Given the description of an element on the screen output the (x, y) to click on. 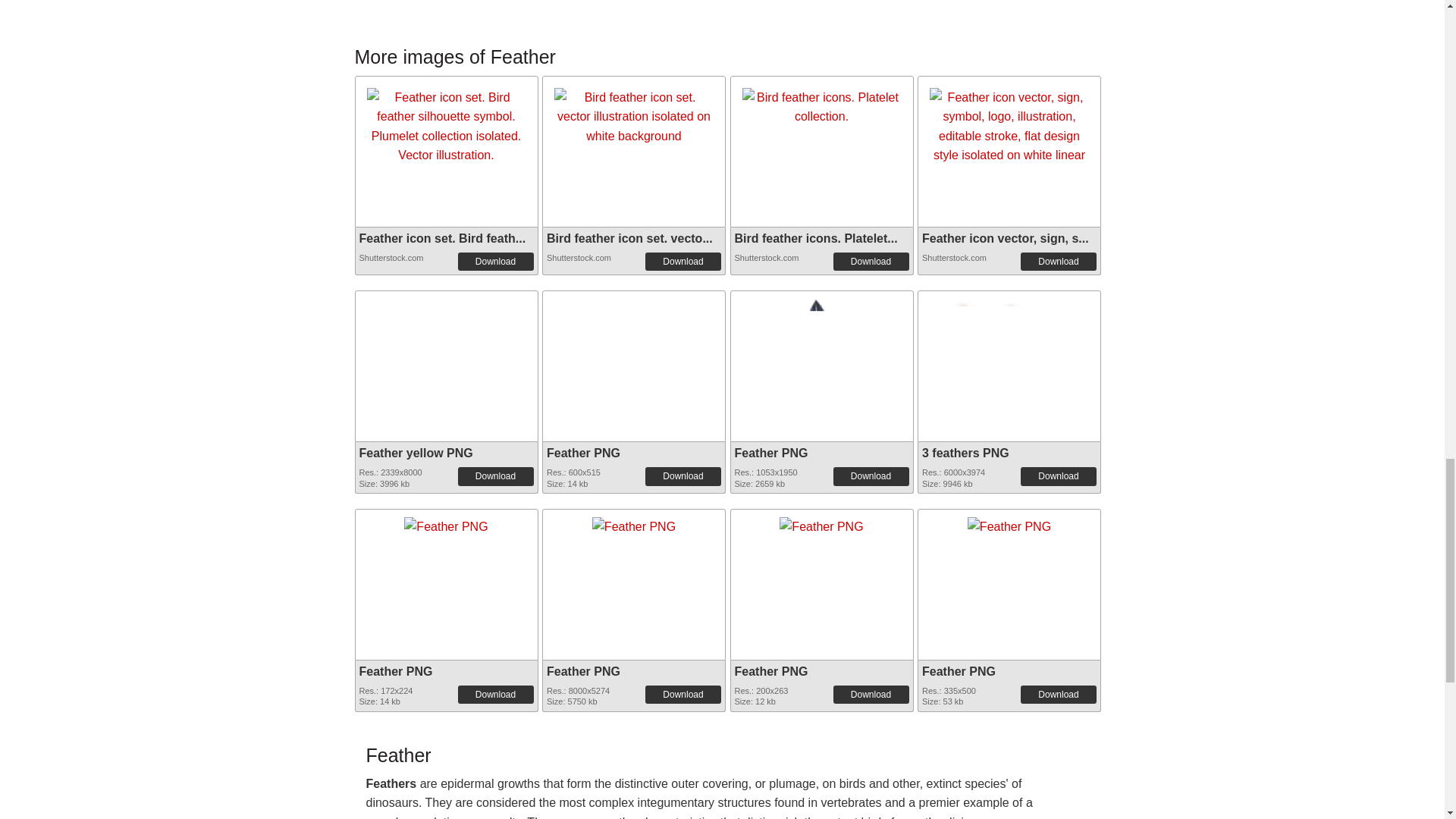
Feather PNG (770, 452)
Feather yellow PNG (445, 361)
Download (1058, 475)
Download (496, 261)
Download (682, 261)
Bird feather icon set. vecto... (630, 237)
3 feathers PNG (1008, 344)
Feather PNG (633, 358)
Feather yellow PNG (416, 452)
Feather PNG (821, 361)
Bird feather icons. Platelet... (814, 237)
Download (682, 475)
